Given the description of an element on the screen output the (x, y) to click on. 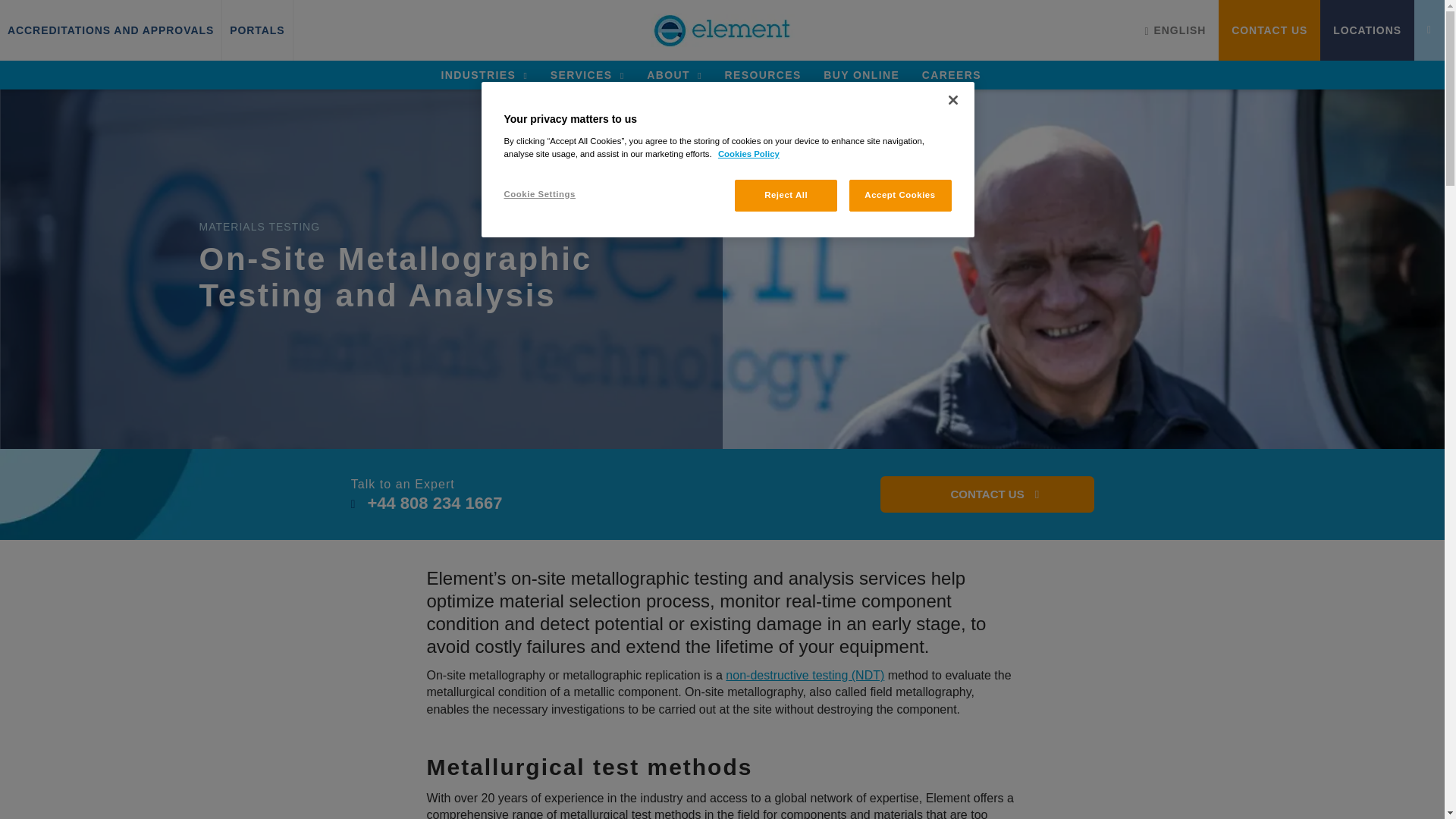
ACCREDITATIONS AND APPROVALS (110, 30)
RESOURCES (761, 74)
CAREERS (951, 74)
BUY ONLINE (861, 74)
PORTALS (256, 30)
LOCATIONS (1366, 30)
INDUSTRIES (484, 74)
ENGLISH (1174, 30)
ABOUT (673, 74)
CONTACT US (1269, 30)
Element (722, 29)
Contact Us (986, 493)
SERVICES (587, 74)
